Given the description of an element on the screen output the (x, y) to click on. 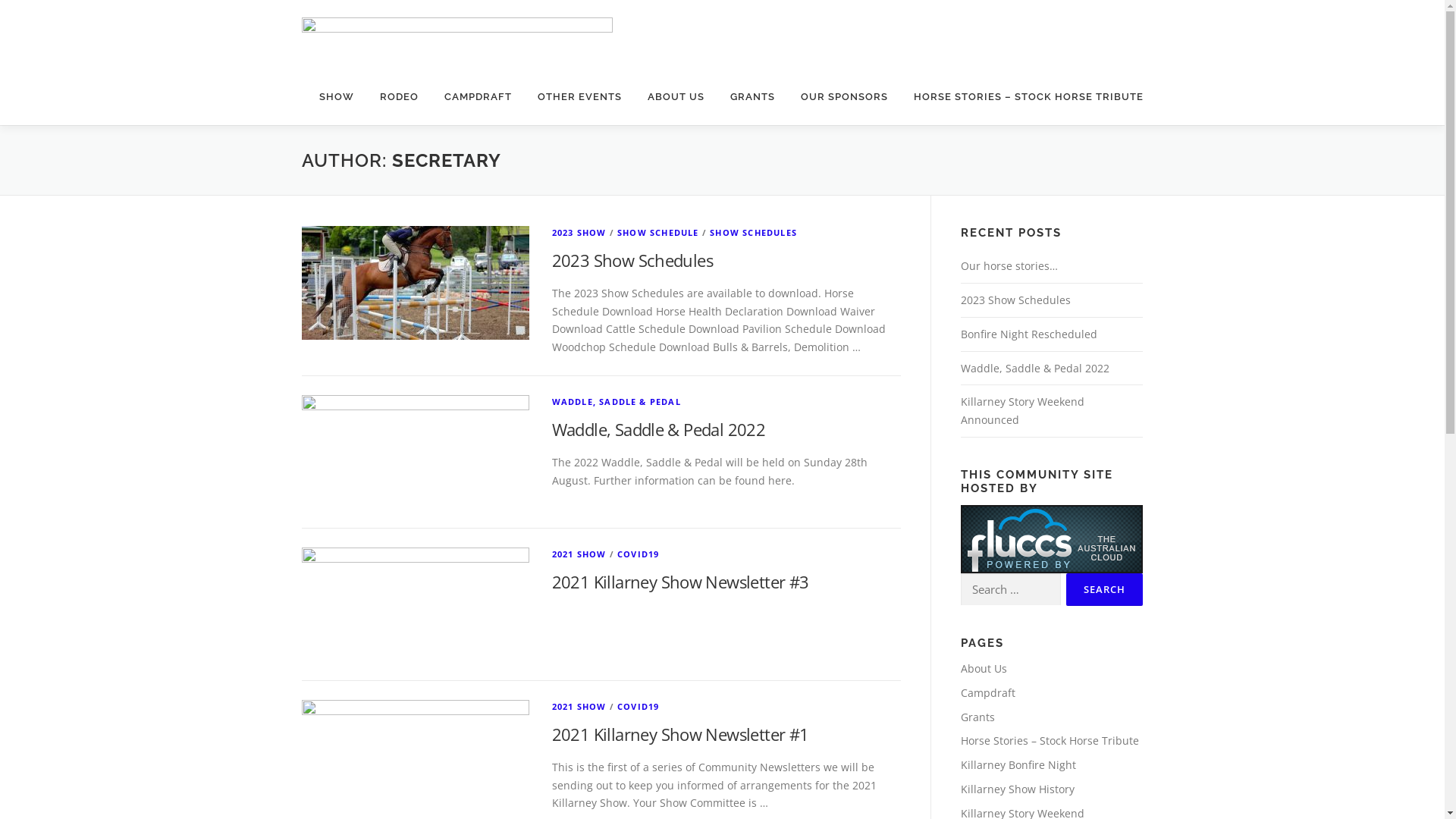
Bonfire Night Rescheduled Element type: text (1028, 333)
WADDLE, SADDLE & PEDAL Element type: text (616, 401)
Campdraft Element type: text (987, 692)
Search Element type: text (1104, 589)
SHOW SCHEDULES Element type: text (753, 232)
OTHER EVENTS Element type: text (579, 96)
Grants Element type: text (977, 716)
SHOW Element type: text (336, 96)
GRANTS Element type: text (752, 96)
2021 SHOW Element type: text (579, 706)
2023 Show Schedules Element type: text (1015, 299)
Killarney Show History Element type: text (1016, 788)
COVID19 Element type: text (637, 706)
SHOW SCHEDULE Element type: text (658, 232)
2021 Killarney Show Newsletter #1 Element type: text (680, 733)
2023 SHOW Element type: text (579, 232)
2021 SHOW Element type: text (579, 553)
Killarney Story Weekend Announced Element type: text (1021, 410)
RODEO Element type: text (399, 96)
COVID19 Element type: text (637, 553)
CAMPDRAFT Element type: text (477, 96)
Waddle, Saddle & Pedal 2022 Element type: text (658, 428)
About Us Element type: text (983, 668)
2023 Show Schedules Element type: text (632, 259)
ABOUT US Element type: text (674, 96)
Waddle, Saddle & Pedal 2022 Element type: text (1034, 367)
Killarney Bonfire Night Element type: text (1017, 764)
2021 Killarney Show Newsletter #3 Element type: text (680, 581)
OUR SPONSORS Element type: text (843, 96)
